Given the description of an element on the screen output the (x, y) to click on. 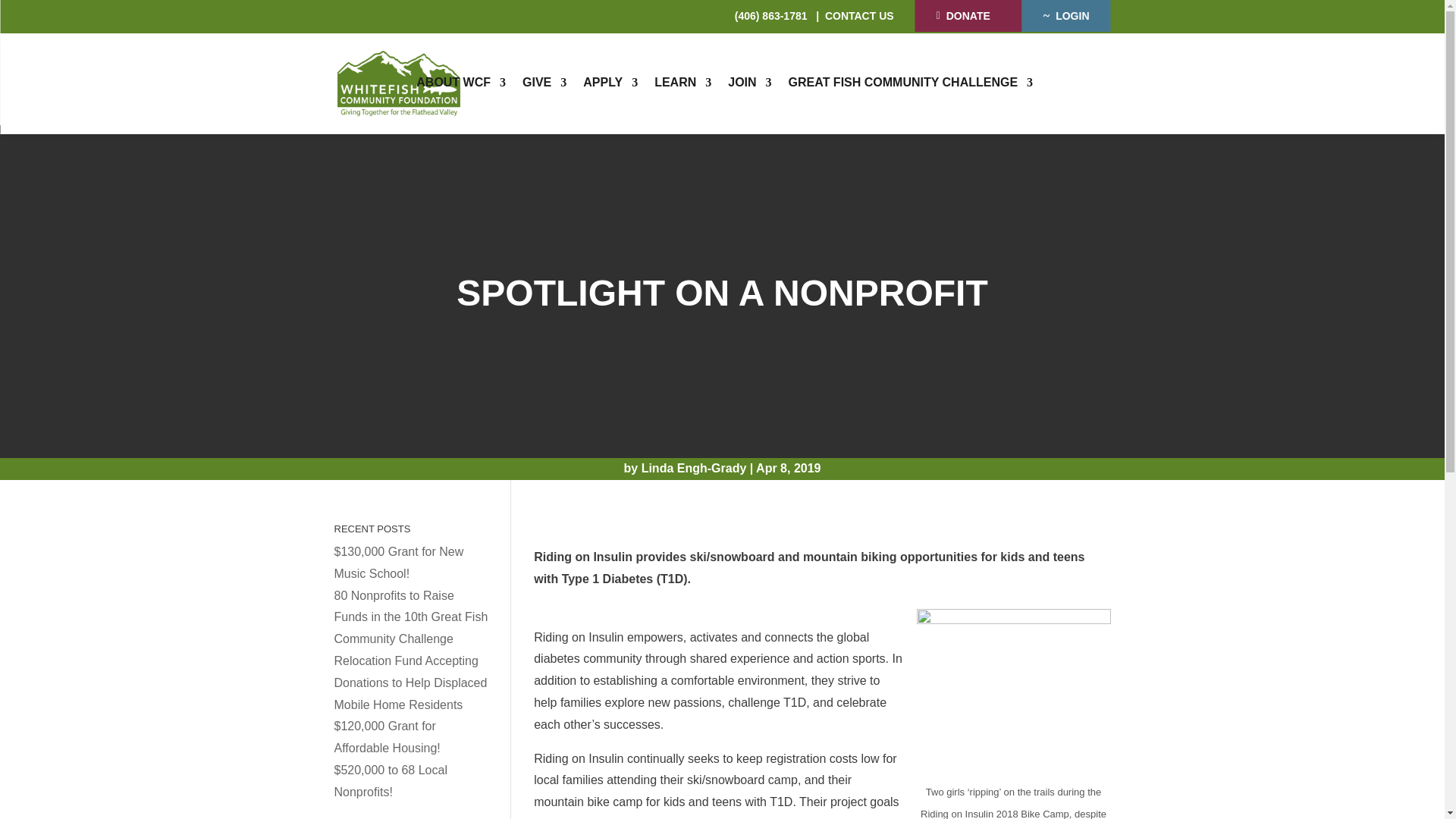
Posts by Linda Engh-Grady (694, 468)
DONATE (968, 15)
APPLY (610, 82)
GIVE (544, 82)
LOGIN (1066, 15)
ABOUT WCF (460, 82)
LEARN (682, 82)
JOIN (749, 82)
GREAT FISH COMMUNITY CHALLENGE (911, 82)
